Given the description of an element on the screen output the (x, y) to click on. 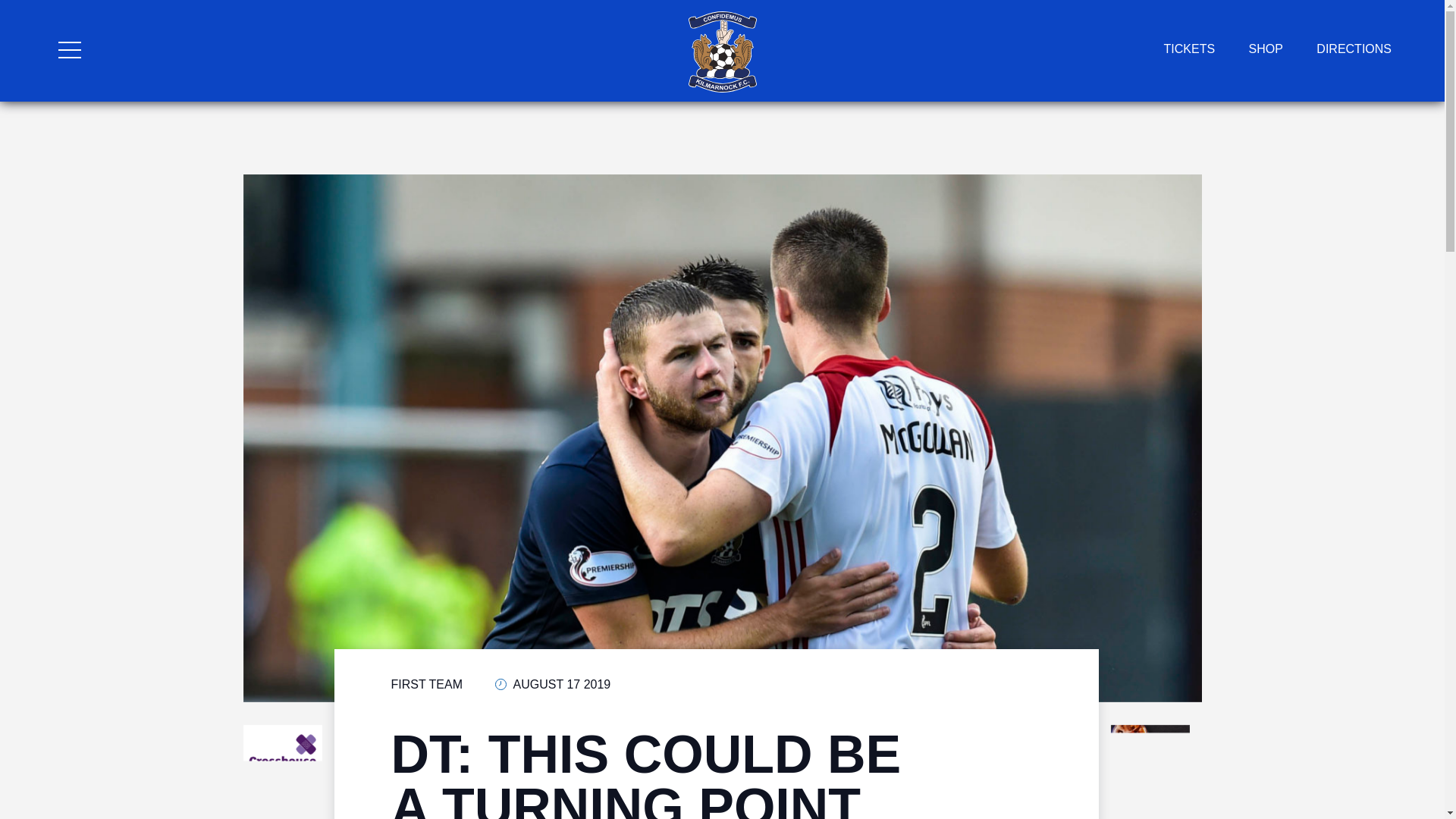
SHOP (1265, 49)
TICKETS (1189, 49)
DIRECTIONS (1353, 49)
